Given the description of an element on the screen output the (x, y) to click on. 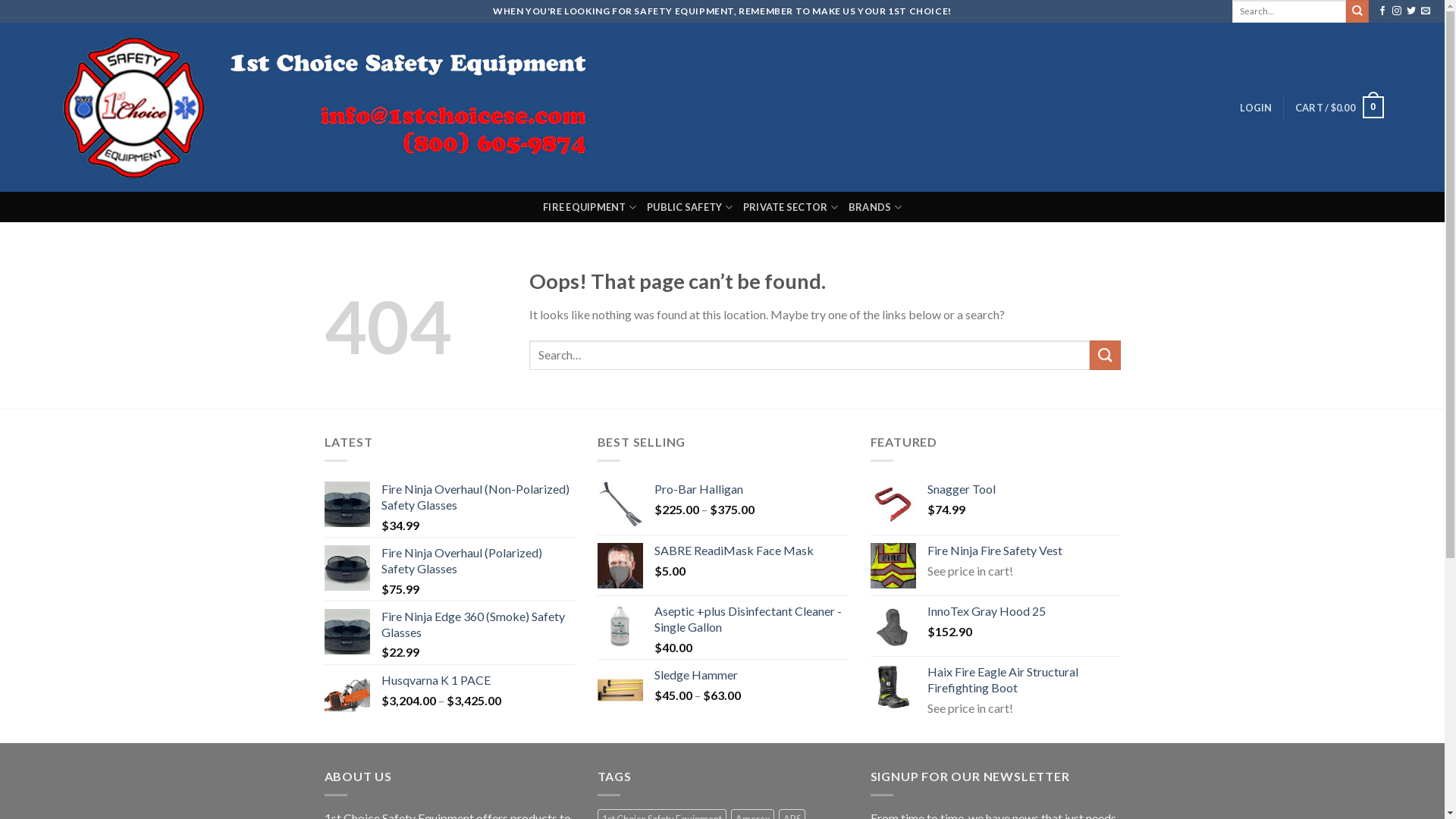
Snagger Tool Element type: text (1023, 489)
Fire Ninja Fire Safety Vest Element type: text (1023, 550)
Fire Ninja Overhaul (Polarized) Safety Glasses Element type: text (477, 561)
PUBLIC SAFETY Element type: text (689, 206)
Follow on Instagram Element type: hover (1396, 11)
LOGIN Element type: text (1255, 107)
Aseptic +plus Disinfectant Cleaner - Single Gallon Element type: text (750, 619)
Pro-Bar Halligan Element type: text (750, 489)
Fire Ninja Edge 360 (Smoke) Safety Glasses Element type: text (477, 624)
Sledge Hammer Element type: text (750, 675)
Search Element type: text (1357, 11)
Fire Ninja Overhaul (Non-Polarized) Safety Glasses Element type: text (477, 497)
Husqvarna K 1 PACE Element type: text (477, 680)
Follow on Facebook Element type: hover (1381, 11)
Send us an email Element type: hover (1425, 11)
Follow on Twitter Element type: hover (1410, 11)
PRIVATE SECTOR Element type: text (790, 206)
Haix Fire Eagle Air Structural Firefighting Boot Element type: text (1023, 680)
FIRE EQUIPMENT Element type: text (589, 206)
InnoTex Gray Hood 25 Element type: text (1023, 611)
CART / $0.00
0 Element type: text (1339, 107)
SABRE ReadiMask Face Mask Element type: text (750, 550)
BRANDS Element type: text (874, 206)
